Given the description of an element on the screen output the (x, y) to click on. 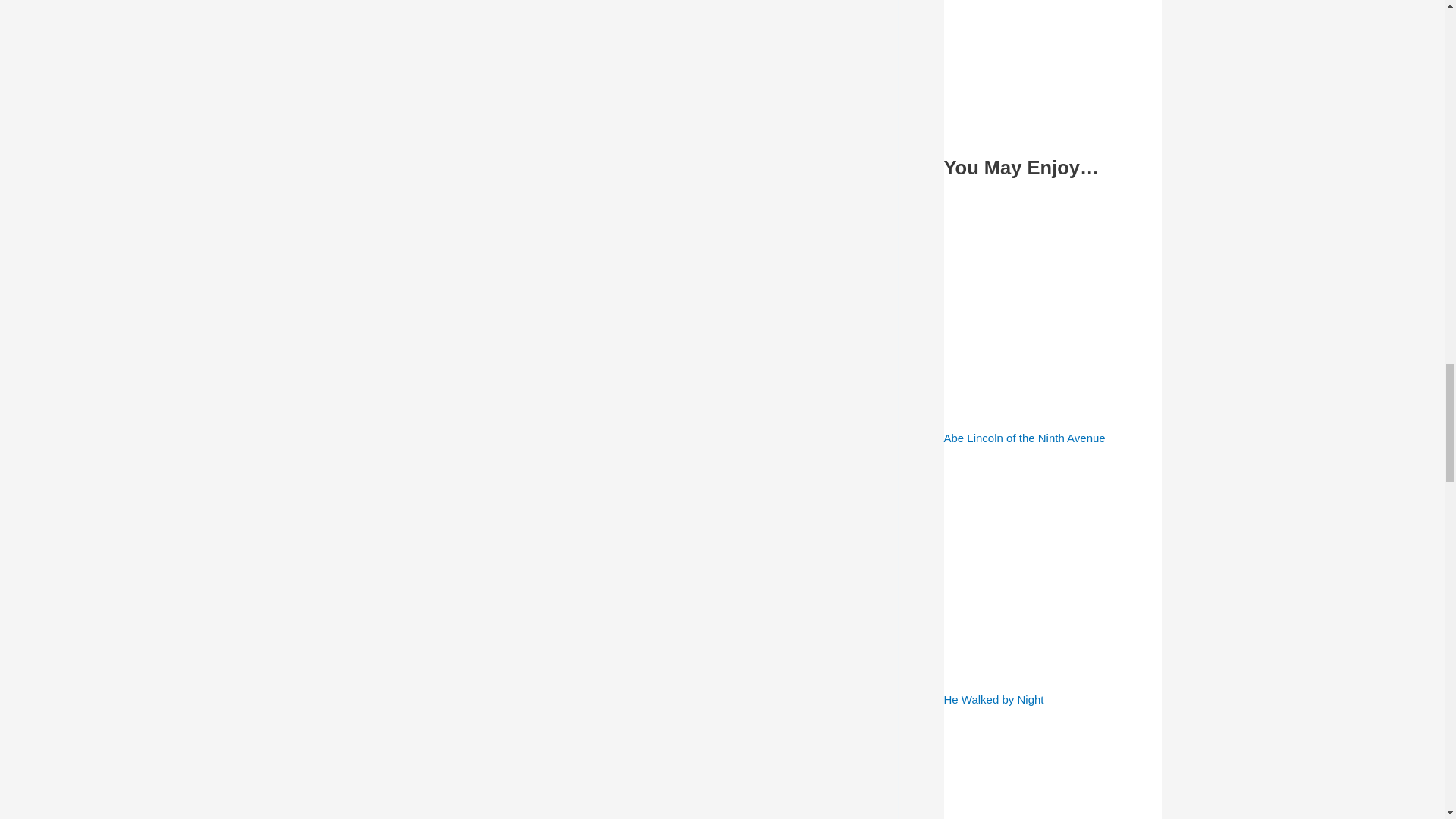
Advertisement (1051, 64)
